Given the description of an element on the screen output the (x, y) to click on. 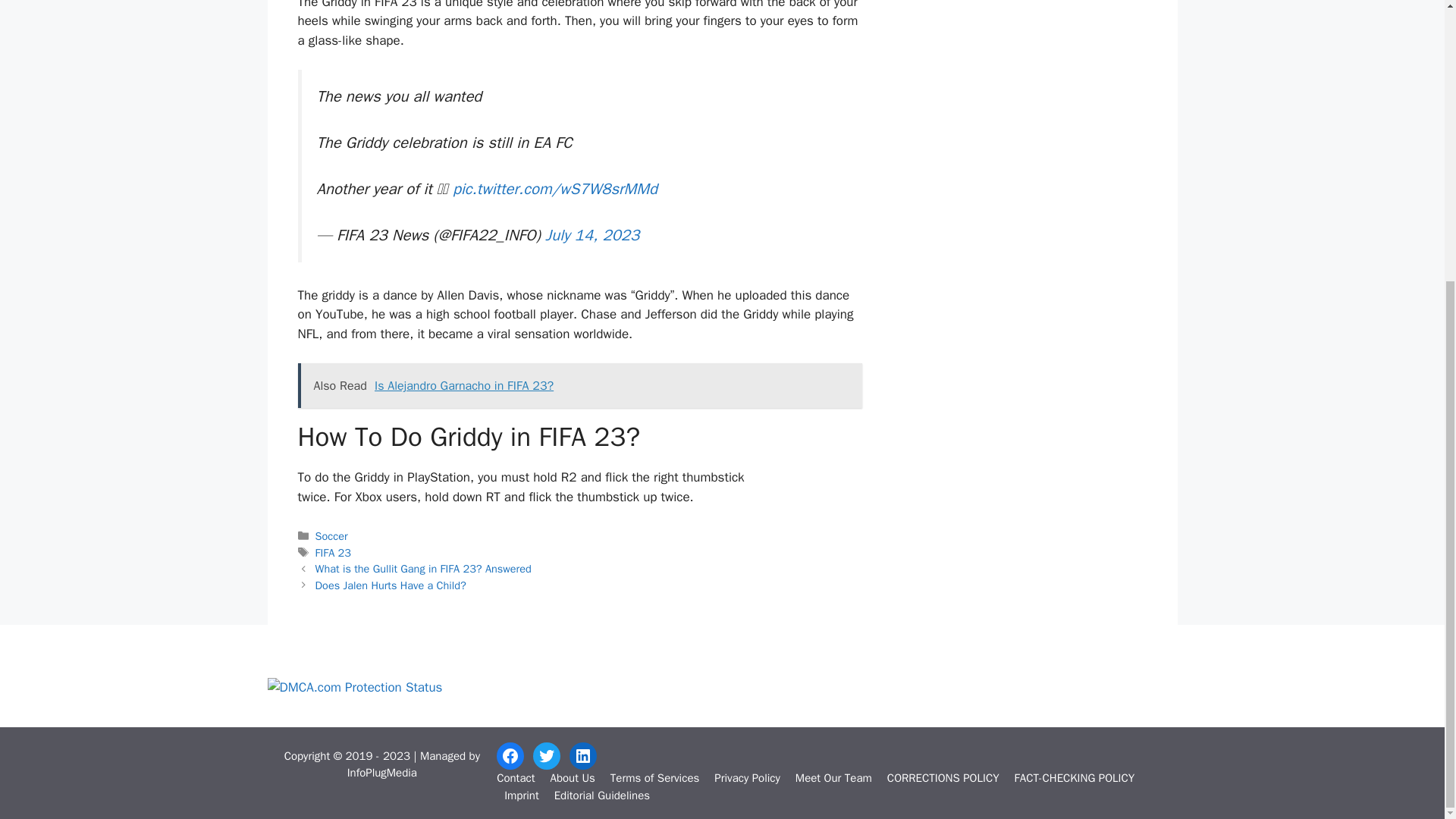
Soccer (331, 535)
Imprint (520, 795)
FIFA 23 (332, 552)
About Us (572, 777)
CORRECTIONS POLICY (942, 777)
What is the Gullit Gang in FIFA 23? Answered (423, 568)
LinkedIn (582, 755)
FACT-CHECKING POLICY (1074, 777)
Meet Our Team (833, 777)
Privacy Policy (747, 777)
